Given the description of an element on the screen output the (x, y) to click on. 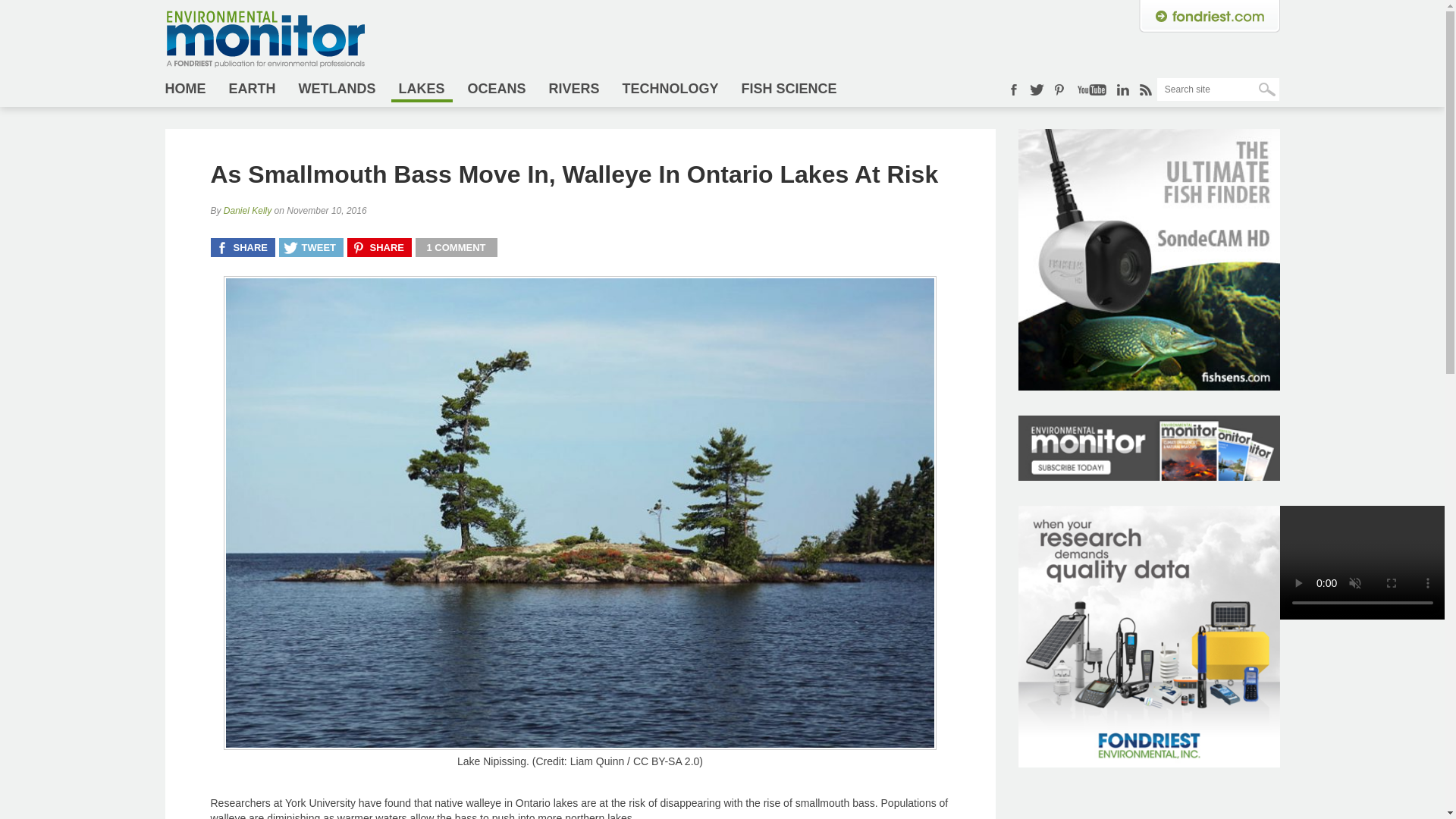
OCEANS (497, 88)
RIVERS (574, 88)
Posts by Daniel Kelly (247, 210)
TECHNOLOGY (670, 88)
HOME (189, 88)
Search site (1218, 88)
Daniel Kelly (247, 210)
WETLANDS (337, 88)
Fondriest Environmental Monitoring Products (1148, 762)
EARTH (252, 88)
